Given the description of an element on the screen output the (x, y) to click on. 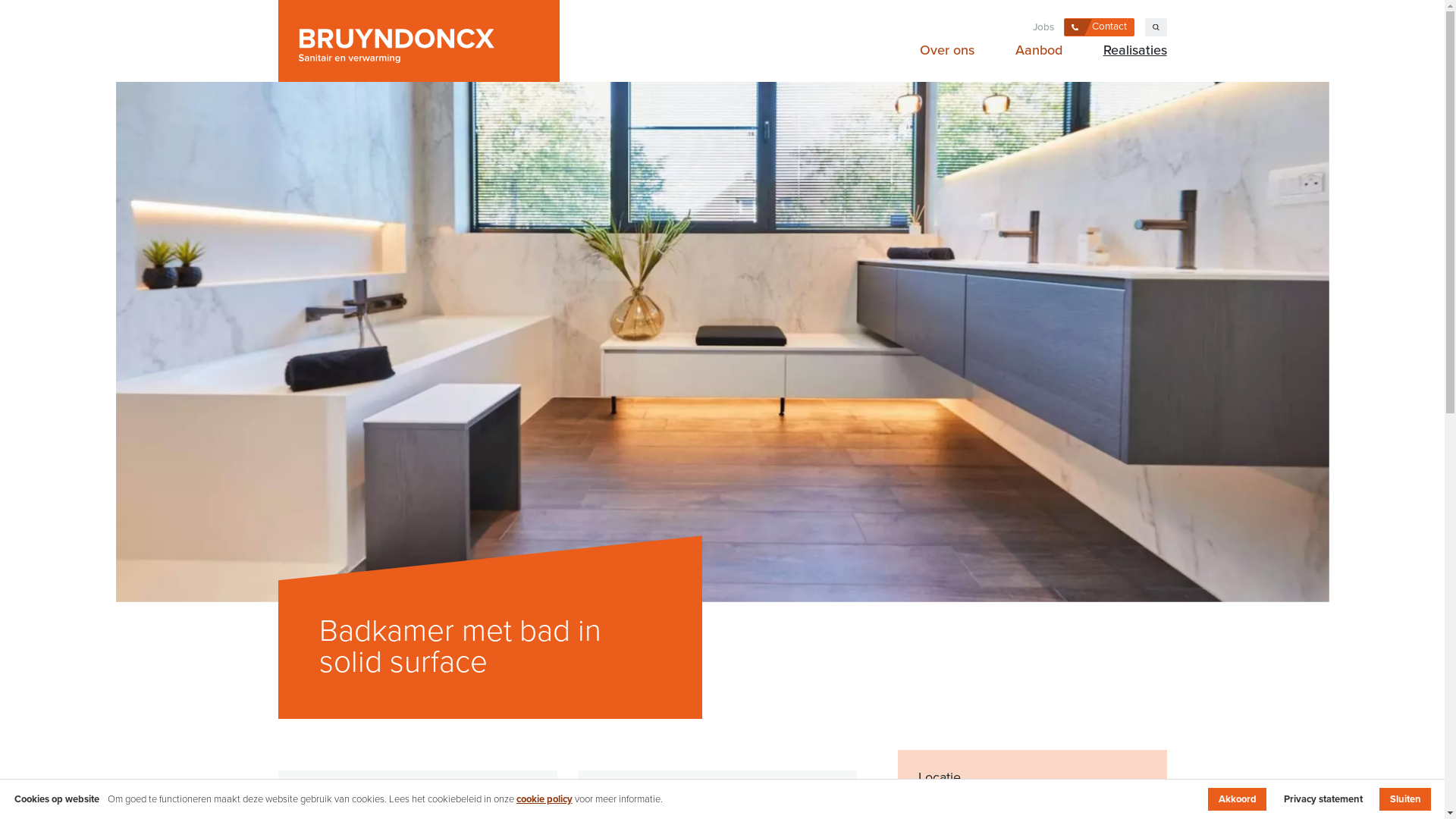
Contact Element type: text (1098, 27)
Akkoord Element type: text (1237, 798)
Sluiten Element type: text (1404, 798)
Realisaties Element type: text (1129, 50)
Privacy statement Element type: text (1322, 798)
Aanbod Element type: text (1038, 50)
Jobs Element type: text (1043, 27)
Bruyndoncx Element type: hover (417, 40)
cookie policy Element type: text (544, 799)
Over ons Element type: text (946, 50)
